Given the description of an element on the screen output the (x, y) to click on. 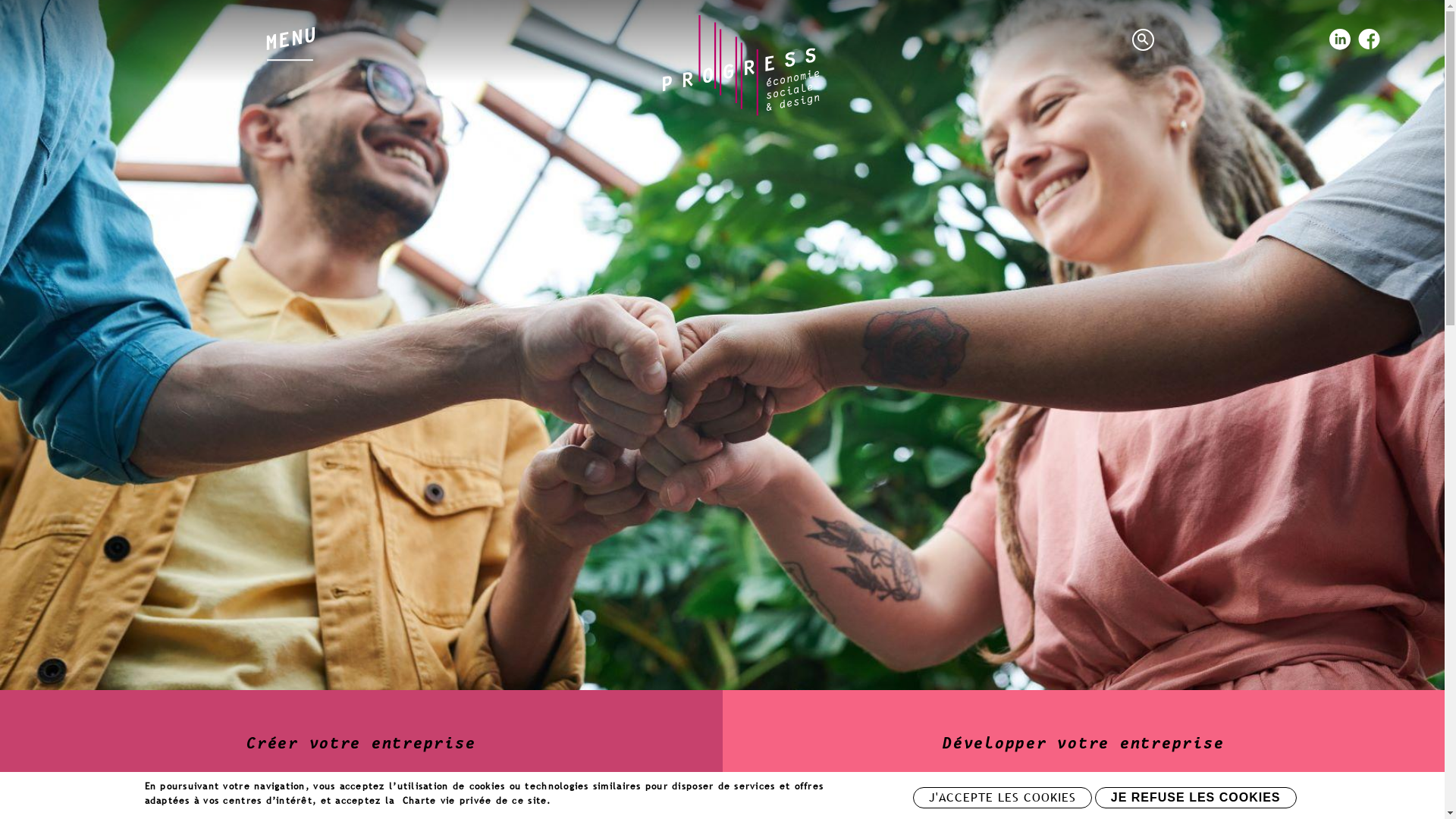
JE REFUSE LES COOKIES Element type: text (1195, 797)
En savoir plus Element type: text (589, 799)
MENU Element type: text (289, 34)
Rechercher Element type: text (1144, 41)
J'ACCEPTE LES COOKIES Element type: text (1002, 797)
